Given the description of an element on the screen output the (x, y) to click on. 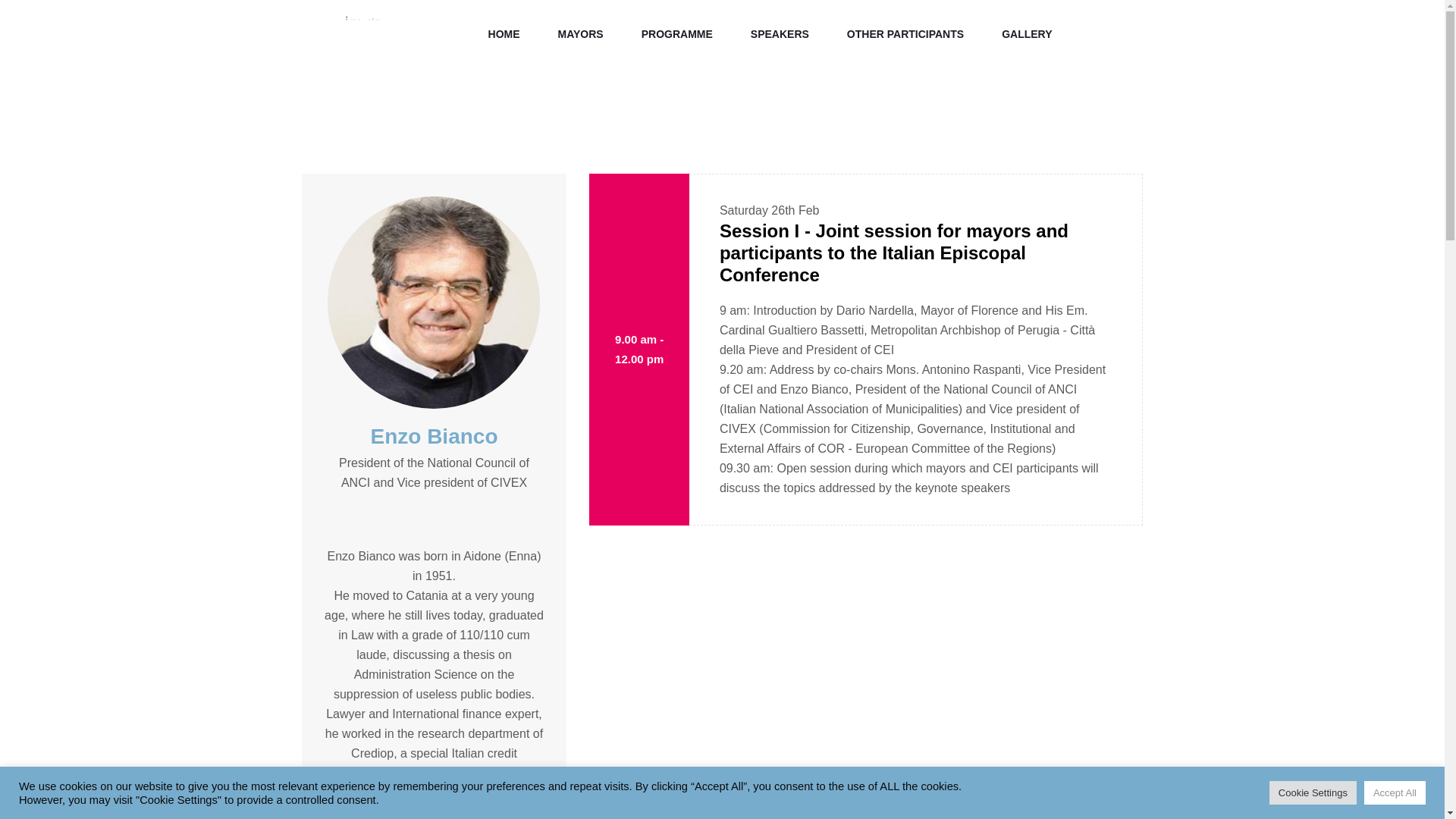
GALLERY (1026, 34)
SPEAKERS (779, 34)
Accept All (1394, 792)
Cookie Settings (1312, 792)
OTHER PARTICIPANTS (905, 34)
PROGRAMME (676, 34)
